Given the description of an element on the screen output the (x, y) to click on. 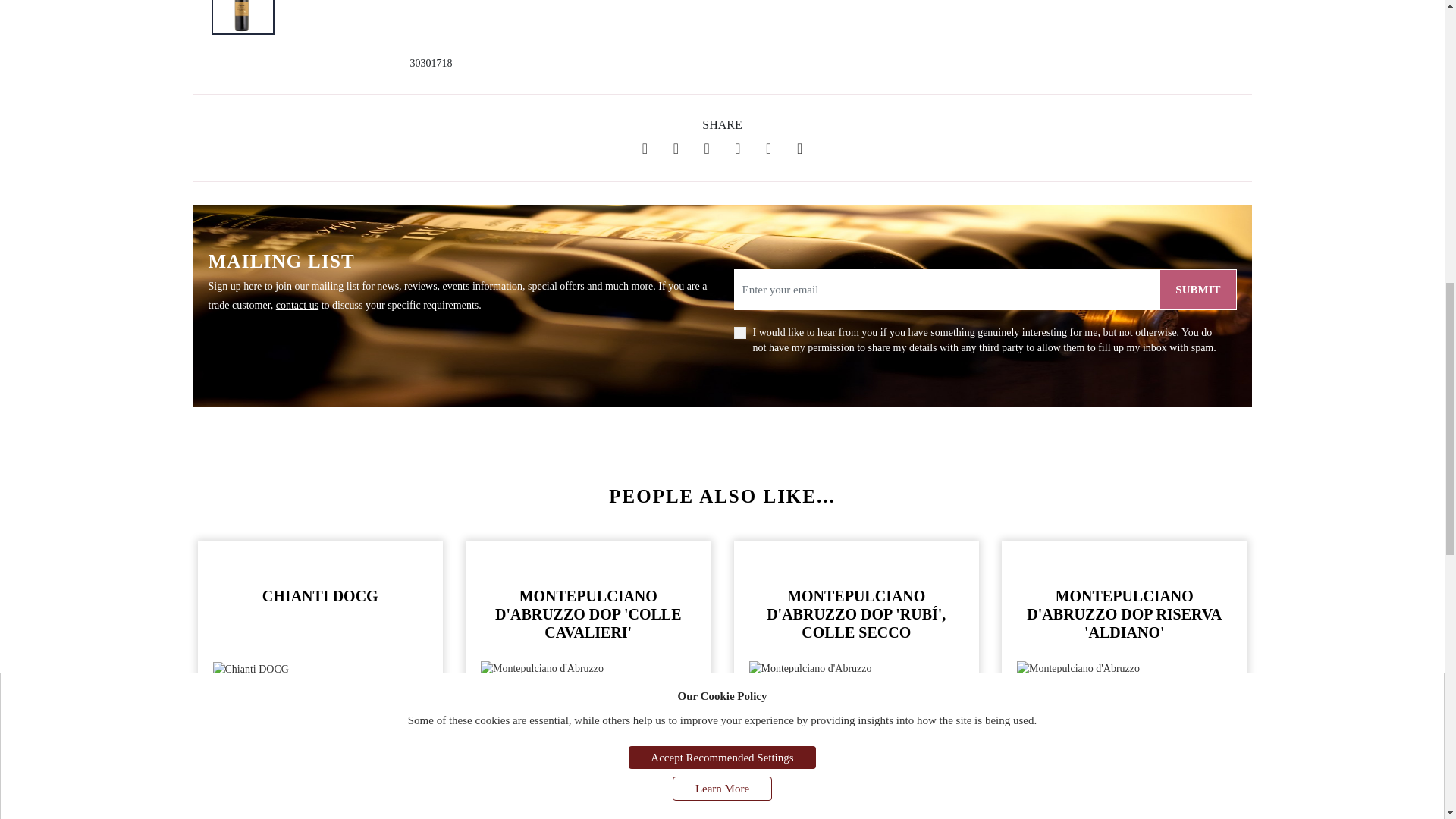
Share on email (737, 148)
Share on twitter (676, 148)
Share on linkedin (706, 148)
Share on whatsapp (768, 148)
Share on sharethis (799, 148)
Share on facebook (644, 148)
